Given the description of an element on the screen output the (x, y) to click on. 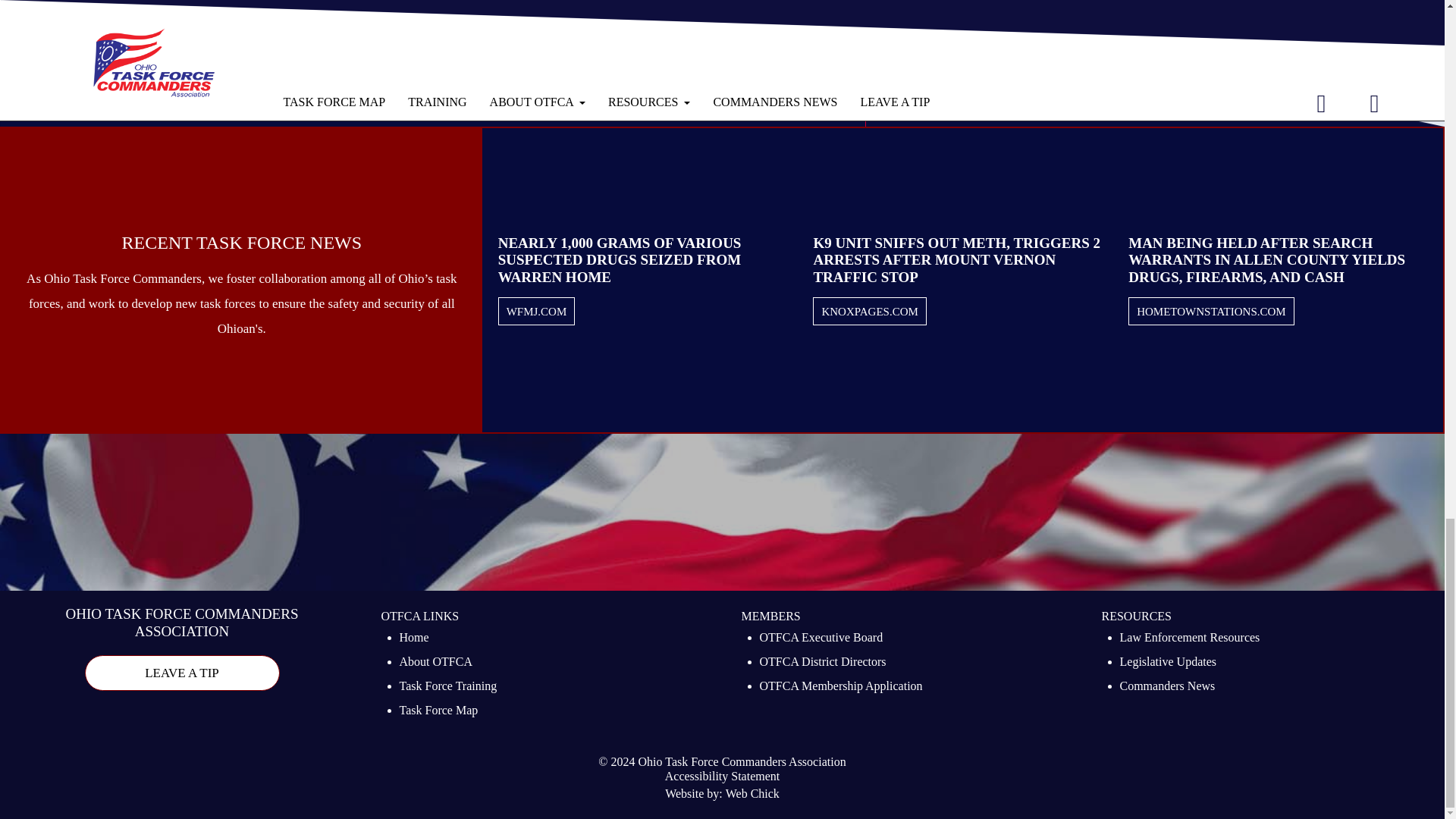
leave a tip button (181, 673)
Home (413, 639)
WFMJ.COM (537, 312)
OTFCA Executive Board (821, 639)
HOMETOWNSTATIONS.COM (1210, 312)
LEAVE A TIP (181, 673)
Web Chick (751, 794)
TASK FORCE TRAINING (240, 63)
Legislative Updates (1167, 663)
About OTFCA (434, 663)
HOMETOWNSTATIONS.COM ad (1210, 312)
OTFCA District Directors (823, 663)
KNOXPAGES.COM ad (868, 312)
Law Enforcement Resources (1189, 639)
Task Force Map (437, 711)
